Given the description of an element on the screen output the (x, y) to click on. 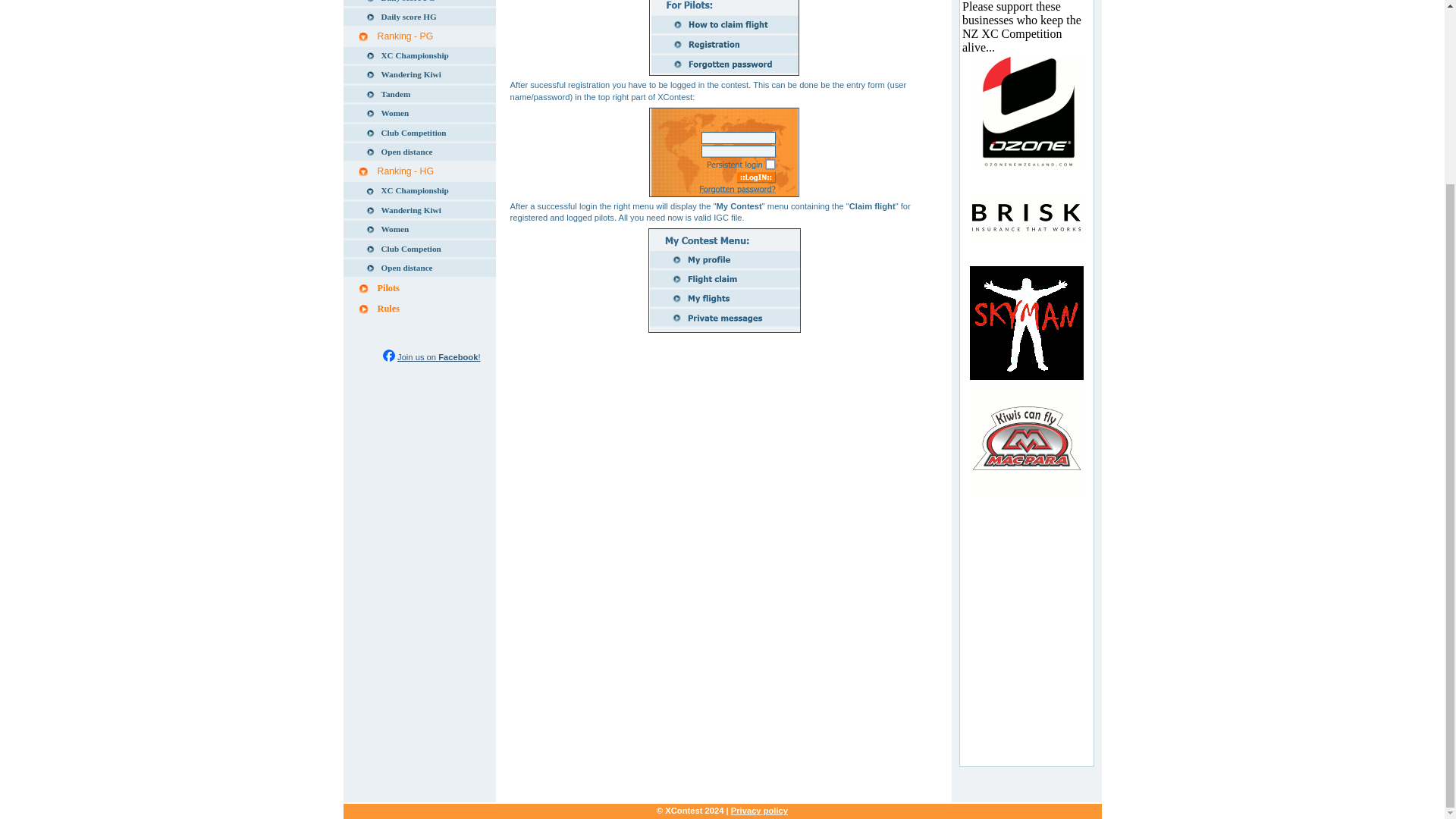
Wandering Kiwi (418, 210)
Open distance (418, 151)
Women (418, 113)
Women (418, 229)
Tandem (418, 94)
Club Competition (418, 132)
Daily score HG (418, 16)
Rules (418, 308)
Daily score PG (418, 3)
Open distance (418, 267)
Privacy policy (758, 809)
XC Championship (418, 190)
XC Championship (418, 55)
Join us on Facebook! (438, 356)
Pilots (418, 288)
